Given the description of an element on the screen output the (x, y) to click on. 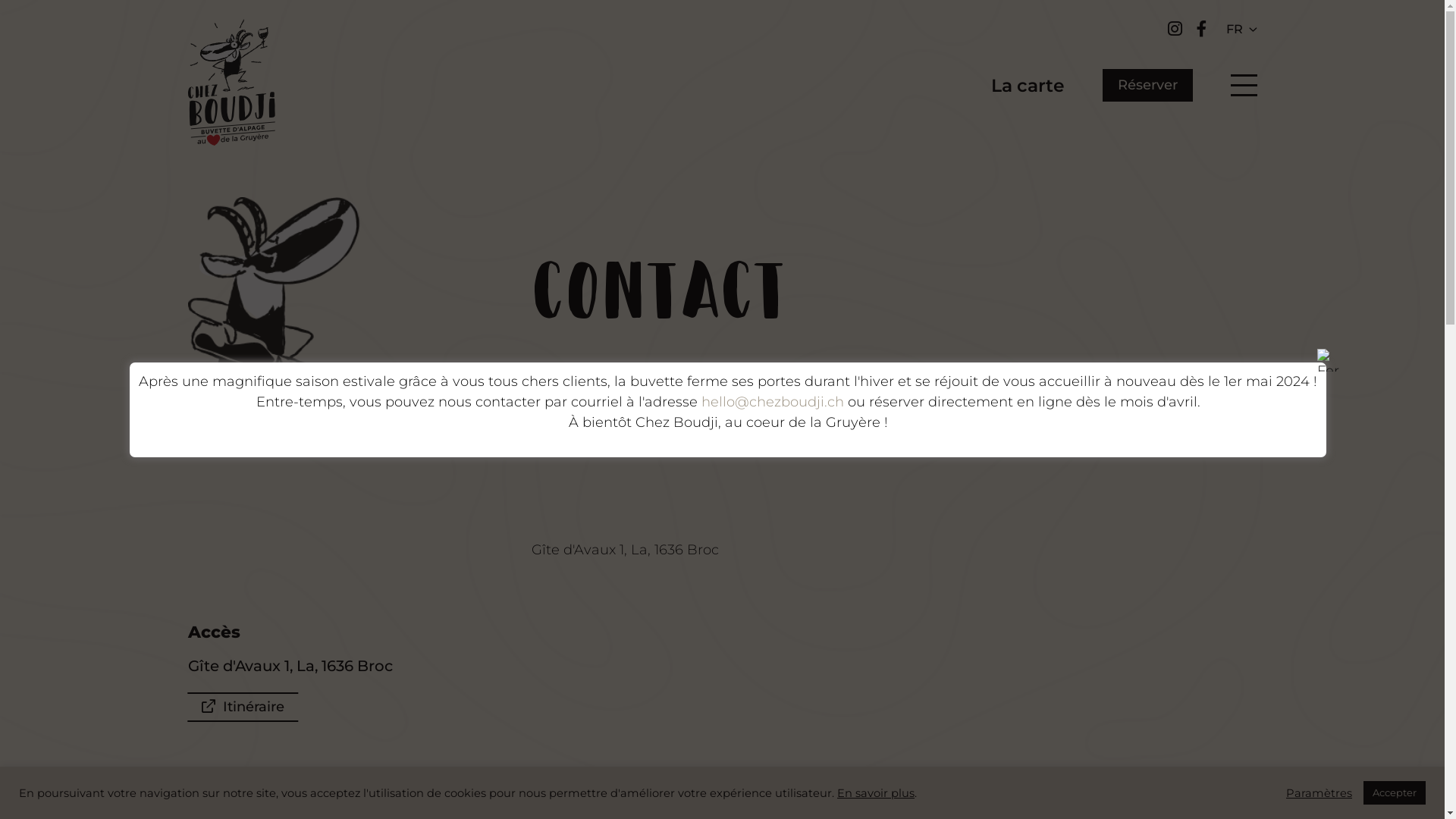
Chez Boudji, Buvette d'alpage Element type: hover (231, 84)
Instagram Element type: hover (1176, 28)
La carte Element type: text (1026, 85)
En savoir plus Element type: text (875, 792)
Fermer Element type: hover (1328, 359)
Facebook Element type: hover (1201, 28)
Accepter Element type: text (1394, 792)
hello@chezboudji.ch Element type: text (771, 400)
